Given the description of an element on the screen output the (x, y) to click on. 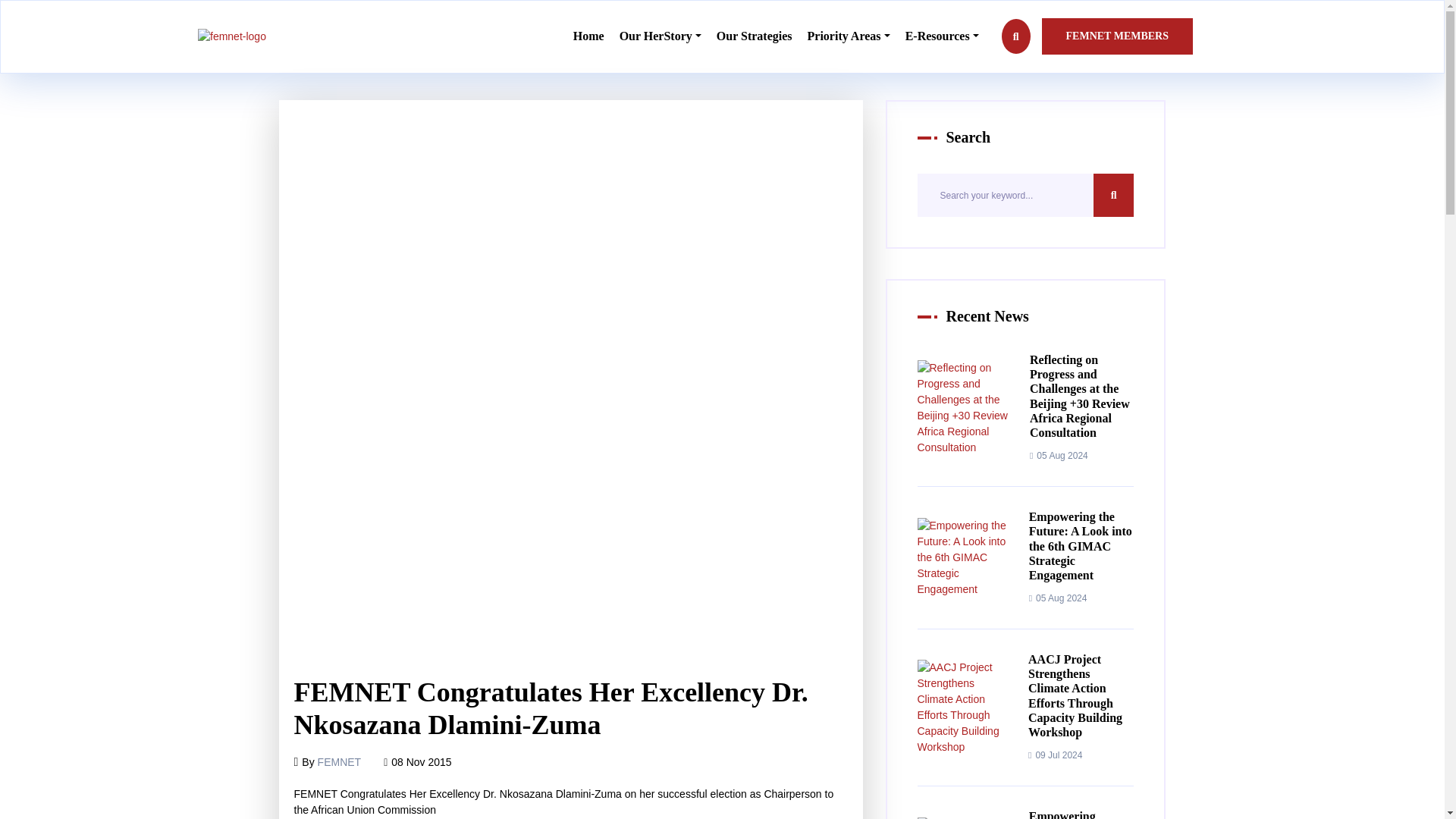
E-Resources (941, 36)
Our HerStory (660, 36)
Priority Areas (848, 36)
E-Resources (941, 36)
Priority Areas (848, 36)
Our Strategies (754, 36)
FEMNET MEMBERS (1117, 36)
FEMNET (339, 761)
Our HerStory (660, 36)
Our Strategies (754, 36)
